Given the description of an element on the screen output the (x, y) to click on. 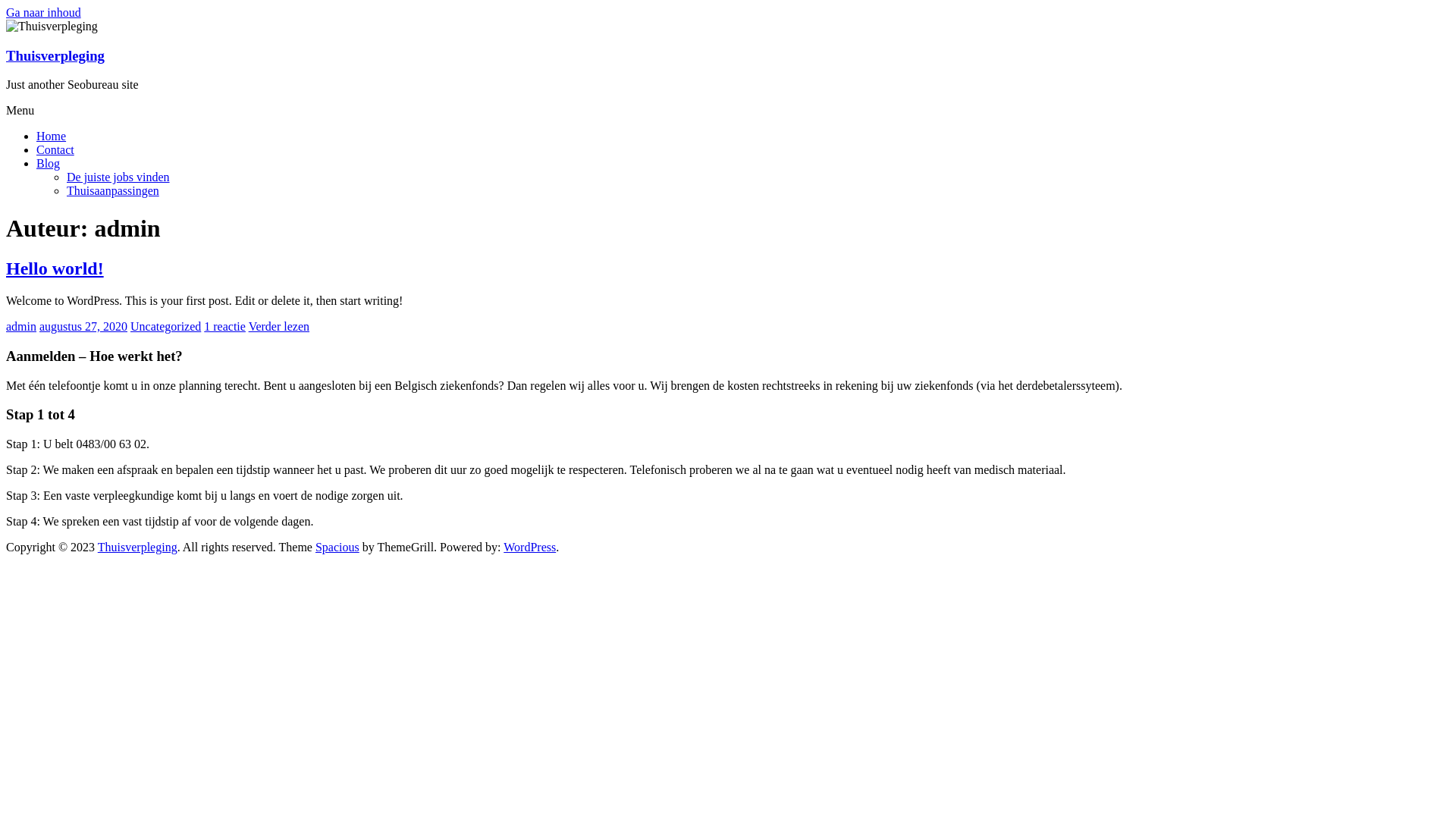
Thuisverpleging Element type: text (137, 546)
Blog Element type: text (47, 162)
Home Element type: text (50, 135)
Verder lezen Element type: text (278, 326)
augustus 27, 2020 Element type: text (83, 326)
Uncategorized Element type: text (165, 326)
Contact Element type: text (55, 149)
1 reactie Element type: text (224, 326)
Ga naar inhoud Element type: text (43, 12)
Hello world! Element type: text (54, 268)
Thuisverpleging Element type: text (55, 55)
Spacious Element type: text (337, 546)
Thuisaanpassingen Element type: text (112, 190)
WordPress Element type: text (529, 546)
admin Element type: text (21, 326)
De juiste jobs vinden Element type: text (117, 176)
